Given the description of an element on the screen output the (x, y) to click on. 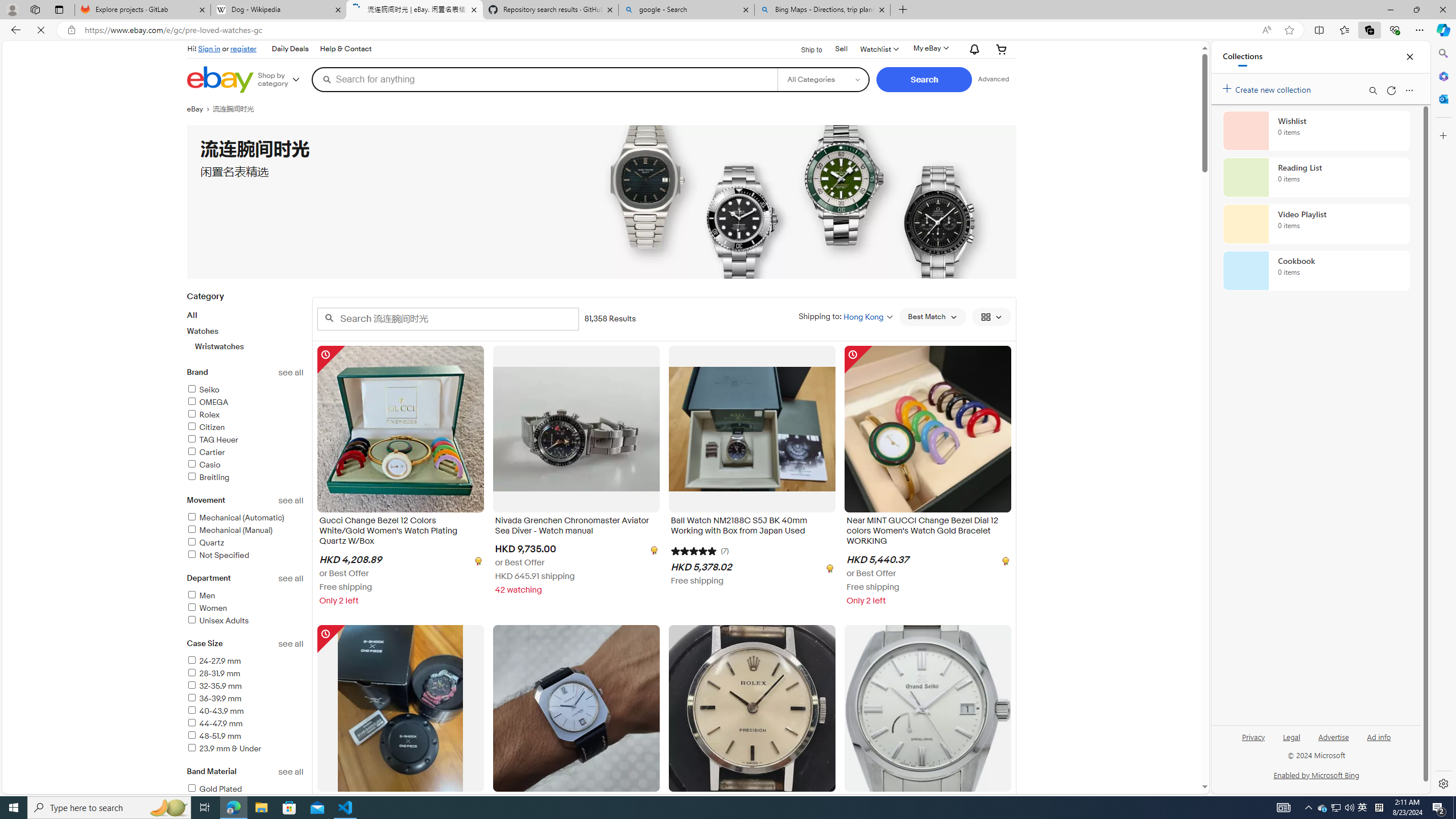
Legal (1291, 736)
Enter your search keyword (448, 318)
Sort: Best Match (932, 316)
Outlook (1442, 98)
google - Search (685, 9)
Ad info (1378, 741)
eBay (199, 108)
AutomationID: gh-eb-Alerts (972, 49)
Privacy (1252, 741)
